Given the description of an element on the screen output the (x, y) to click on. 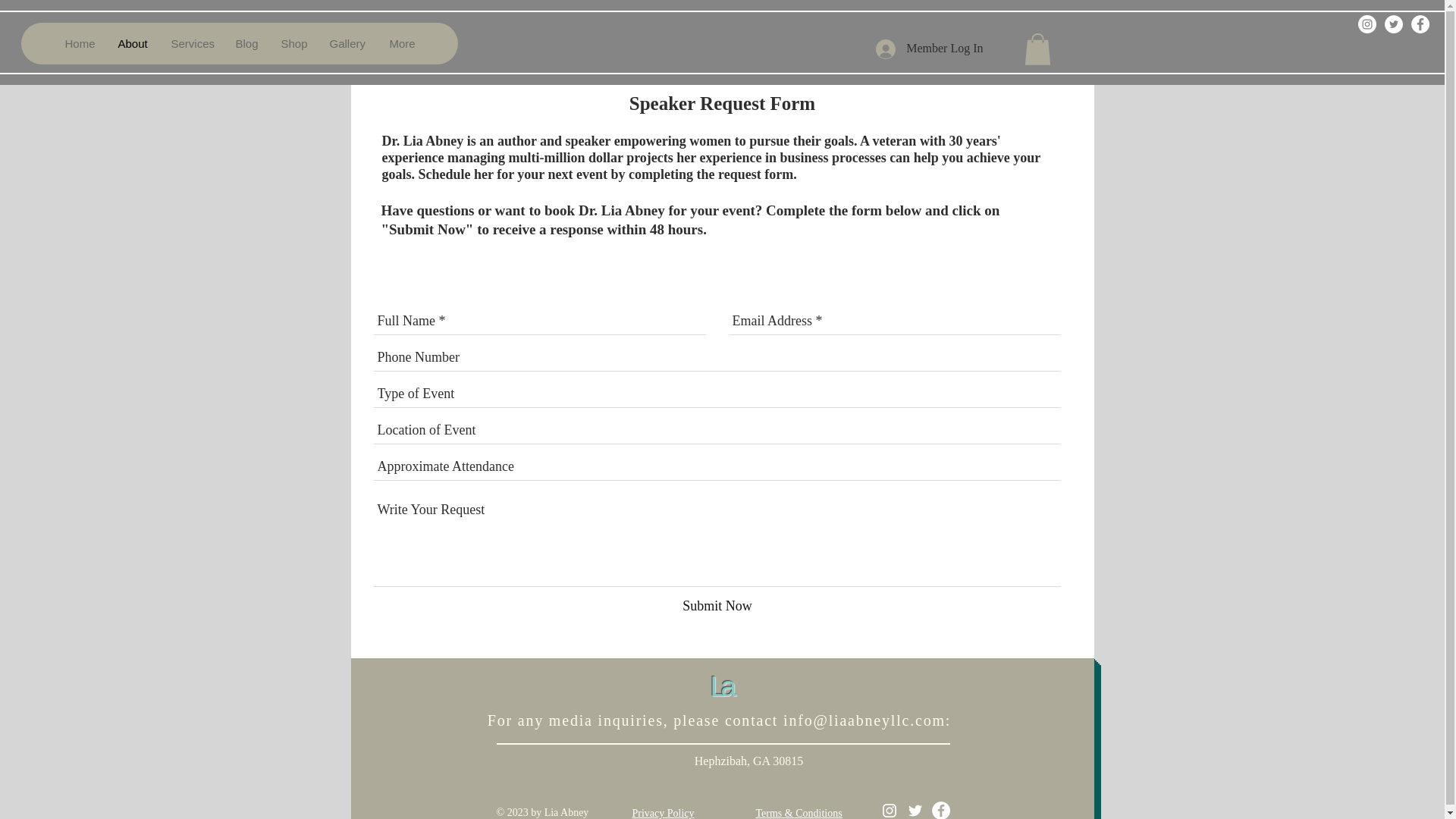
Gallery (347, 43)
Services (191, 43)
Privacy Policy (662, 813)
Blog (244, 43)
About (132, 43)
Member Log In (928, 49)
Submit Now (716, 606)
Home (79, 43)
Shop (292, 43)
